Given the description of an element on the screen output the (x, y) to click on. 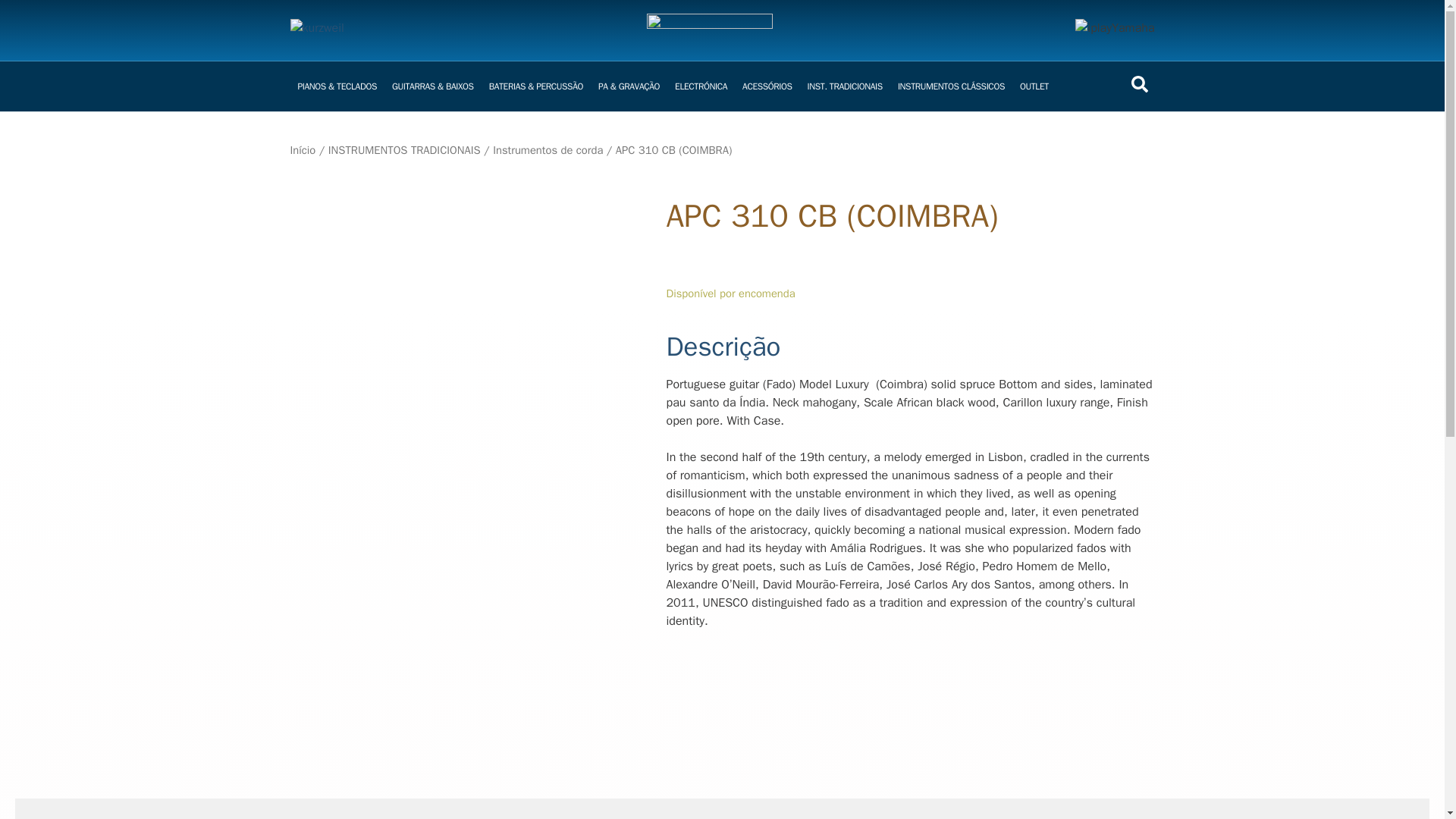
Guitarras e baixos (432, 86)
iplayYamaha (1114, 29)
kurzweil (316, 29)
Pianos e teclados (336, 86)
